Given the description of an element on the screen output the (x, y) to click on. 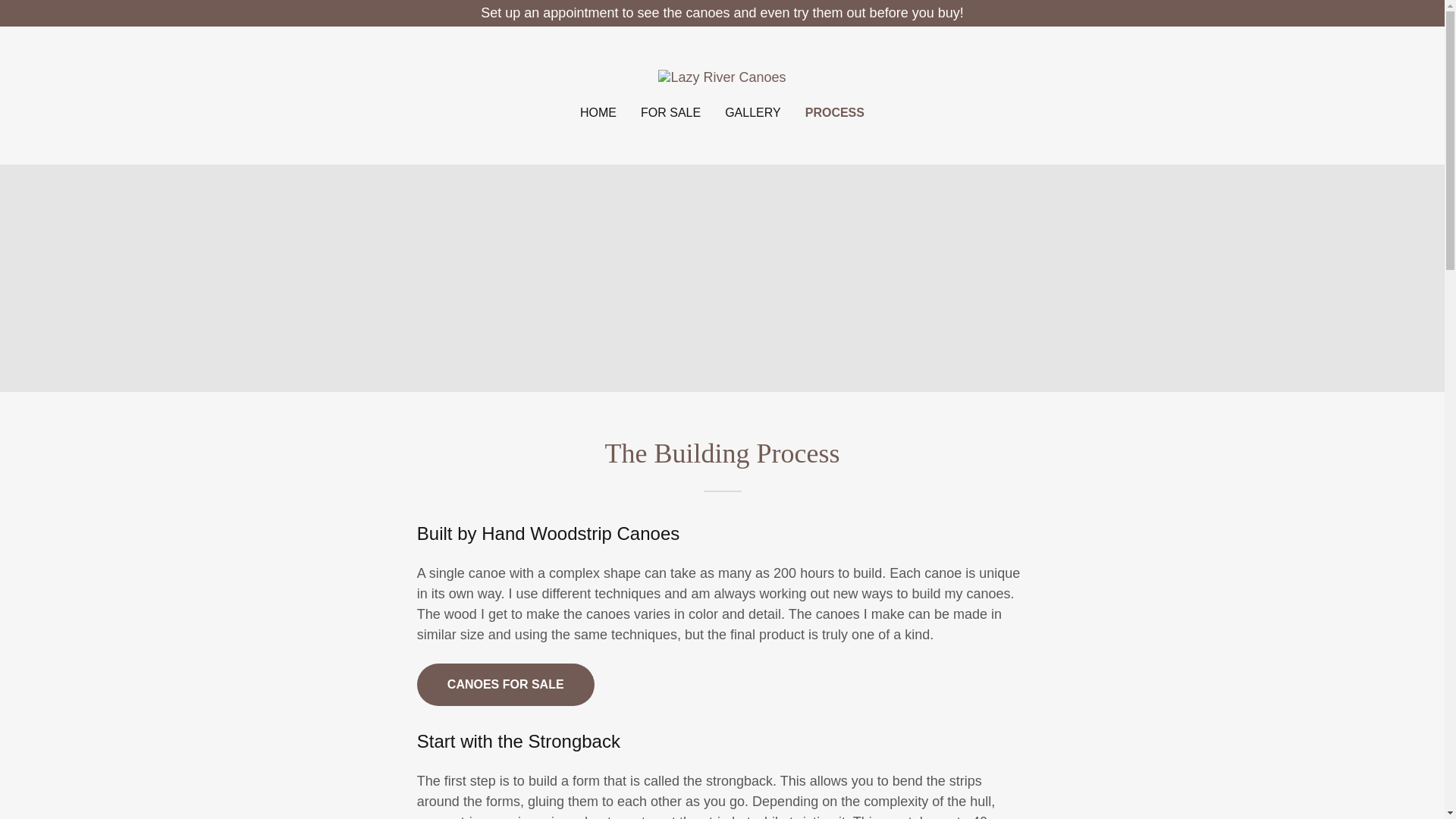
HOME (598, 112)
Lazy River Canoes (722, 76)
FOR SALE (670, 112)
PROCESS (834, 113)
GALLERY (753, 112)
CANOES FOR SALE (505, 684)
